Given the description of an element on the screen output the (x, y) to click on. 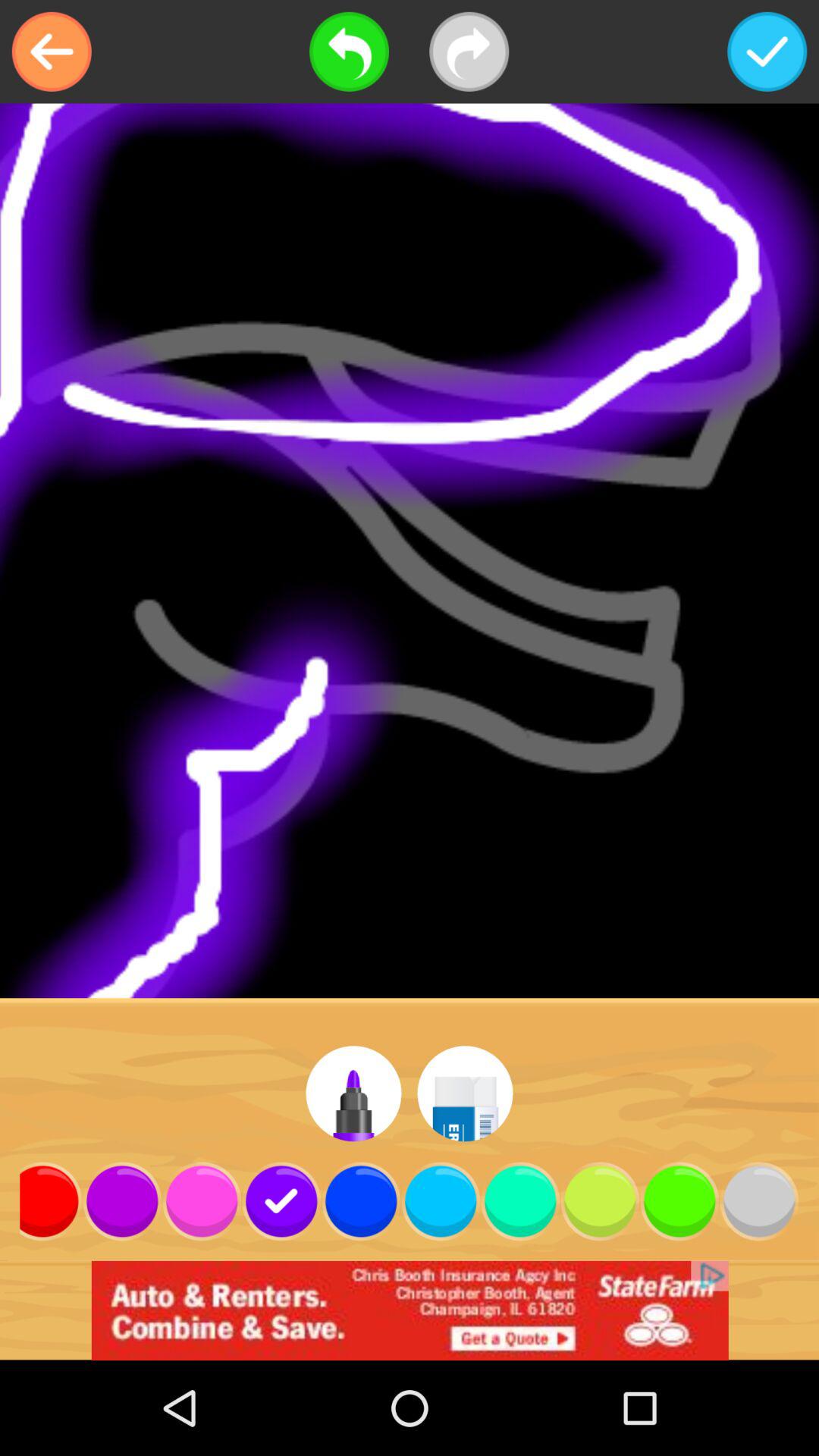
go back (51, 51)
